Given the description of an element on the screen output the (x, y) to click on. 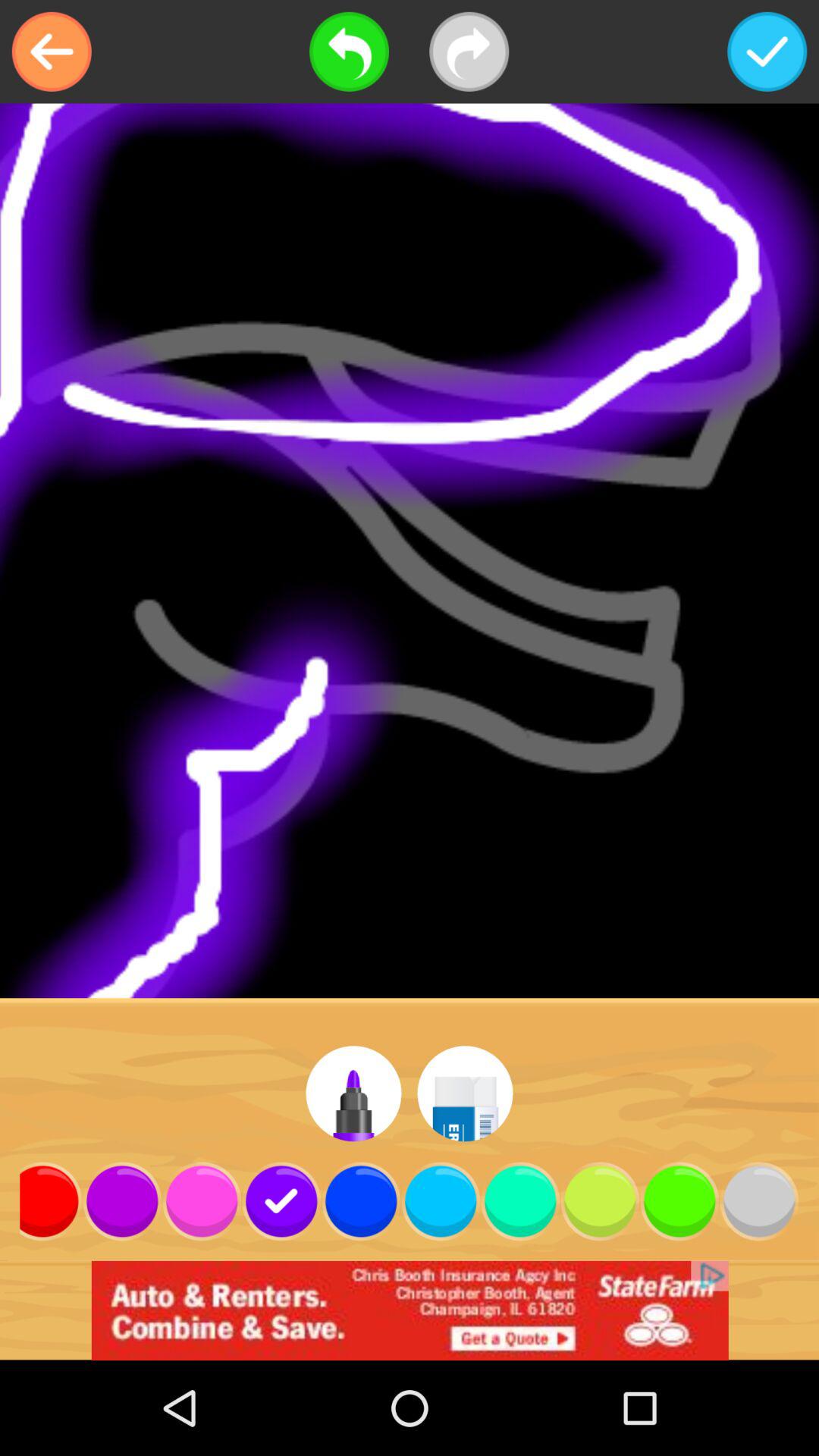
go back (51, 51)
